Given the description of an element on the screen output the (x, y) to click on. 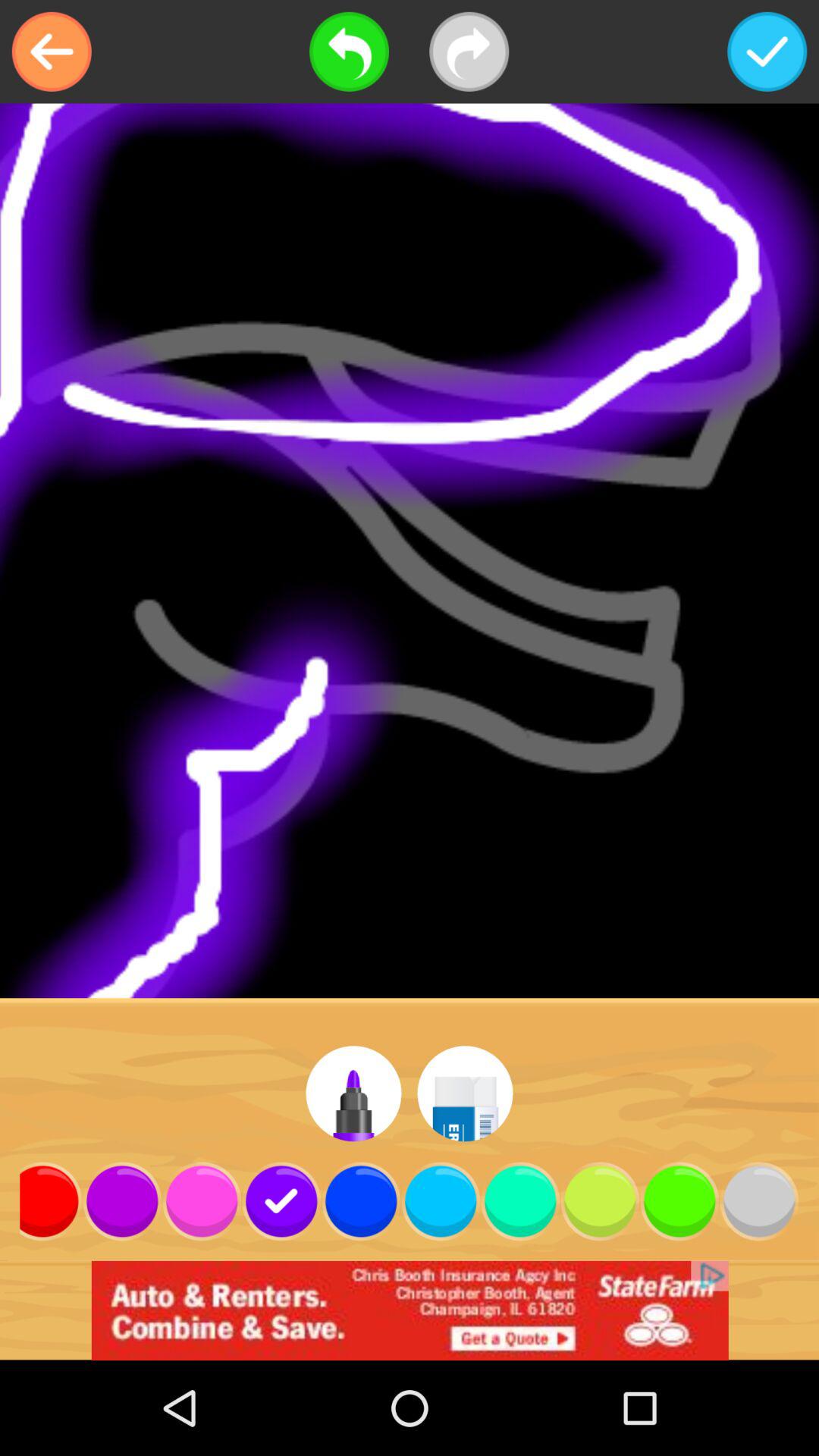
go back (51, 51)
